Given the description of an element on the screen output the (x, y) to click on. 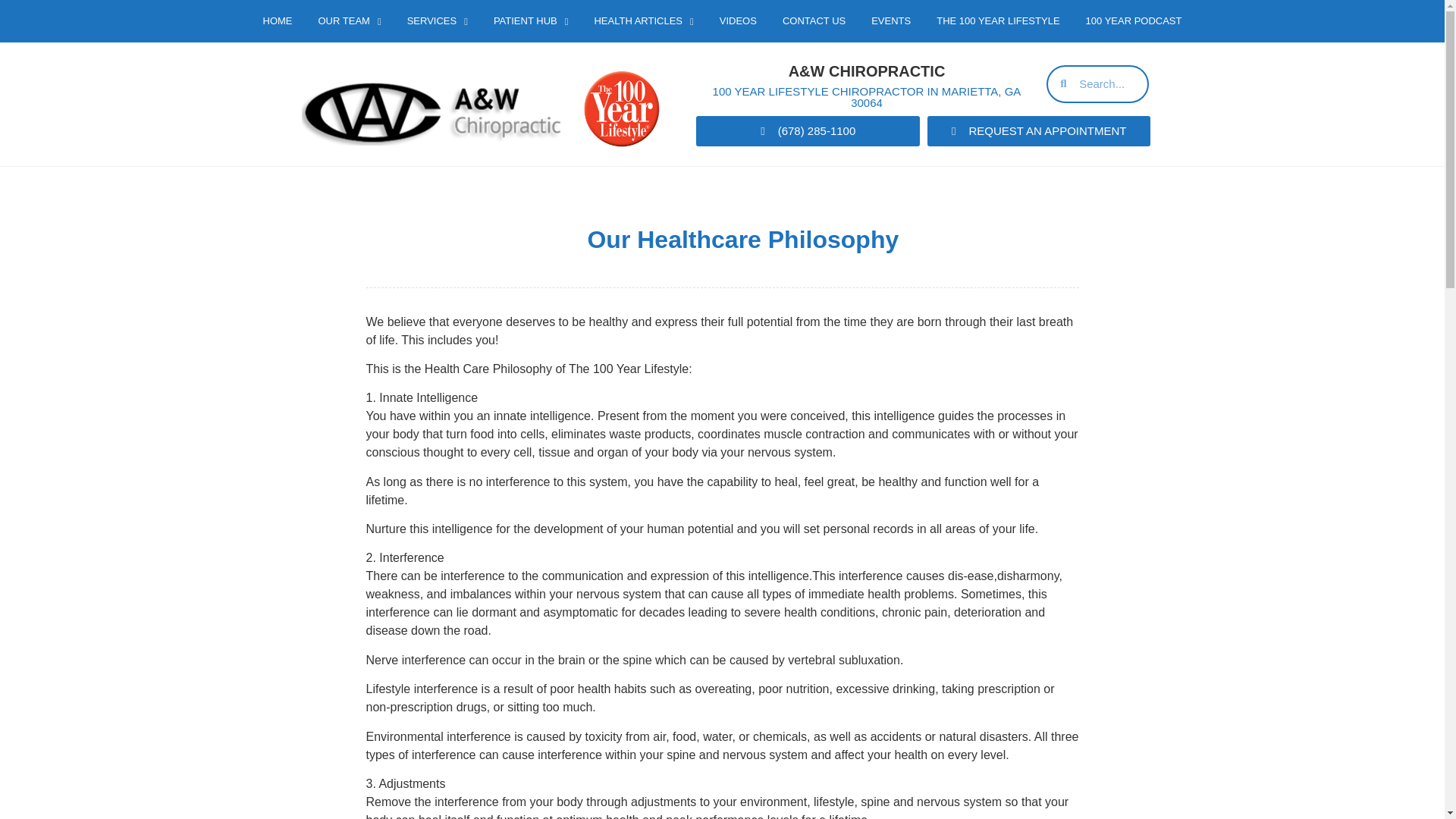
SERVICES (437, 21)
OUR TEAM (348, 21)
HOME (277, 21)
